Given the description of an element on the screen output the (x, y) to click on. 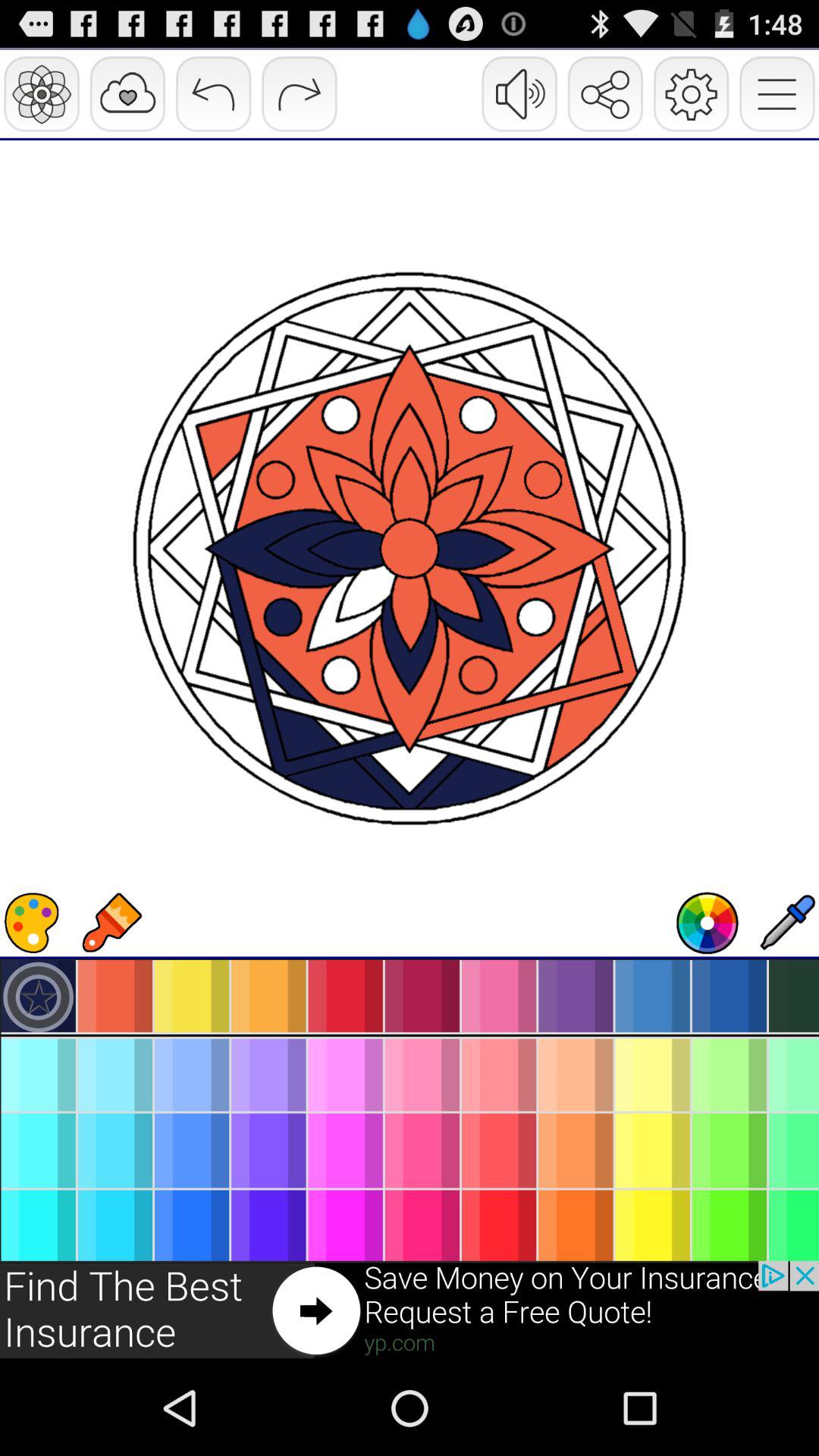
it is notification key (409, 1310)
